Given the description of an element on the screen output the (x, y) to click on. 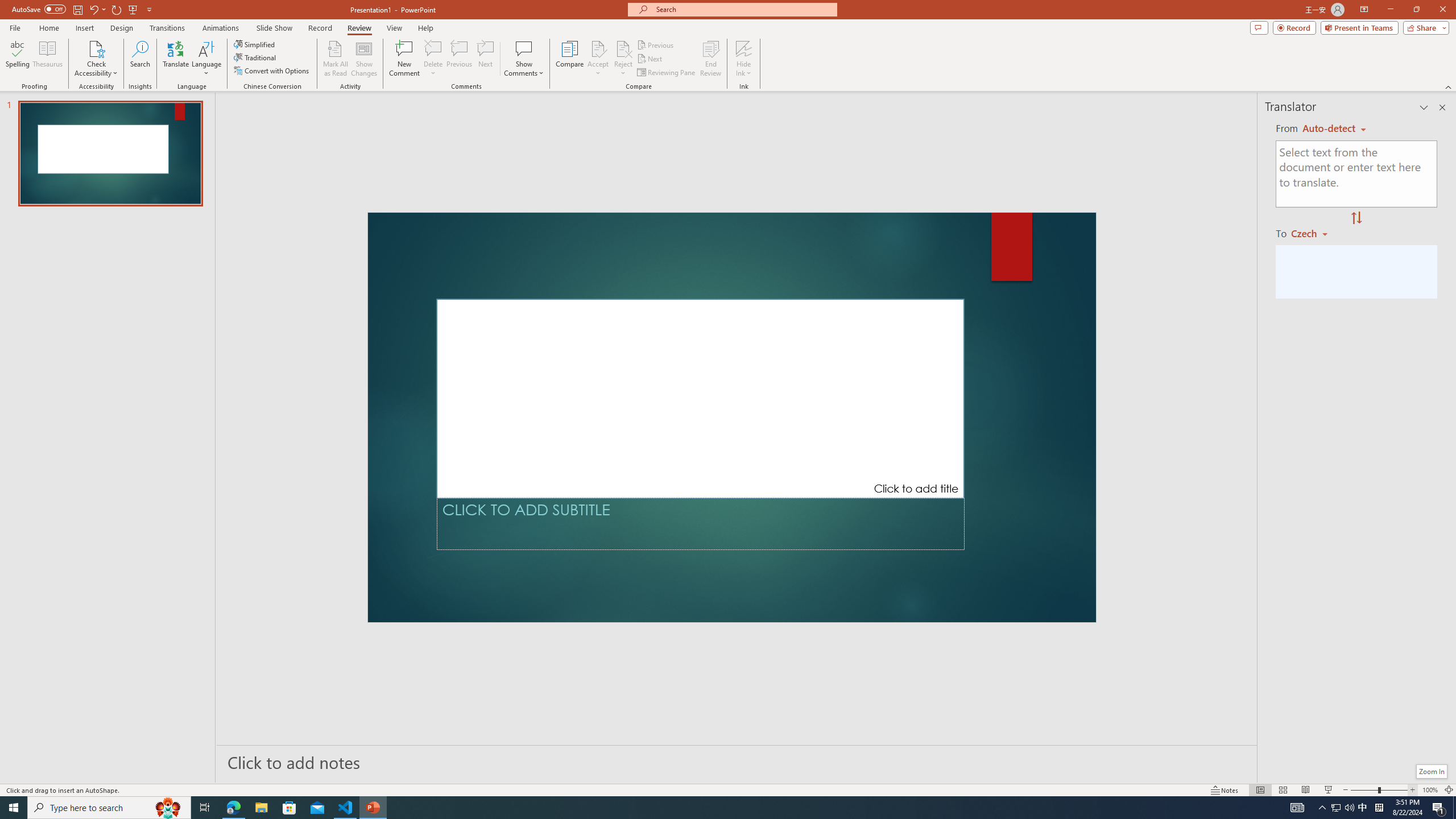
Slide (110, 153)
Class: MsoCommandBar (728, 789)
Czech (1313, 232)
Translate (175, 58)
Accept (598, 58)
View (395, 28)
Delete (432, 58)
Next (649, 58)
Normal (1260, 790)
Customize Quick Access Toolbar (149, 9)
Collapse the Ribbon (1448, 86)
Check Accessibility (95, 58)
Help (425, 28)
Show Changes (363, 58)
